Given the description of an element on the screen output the (x, y) to click on. 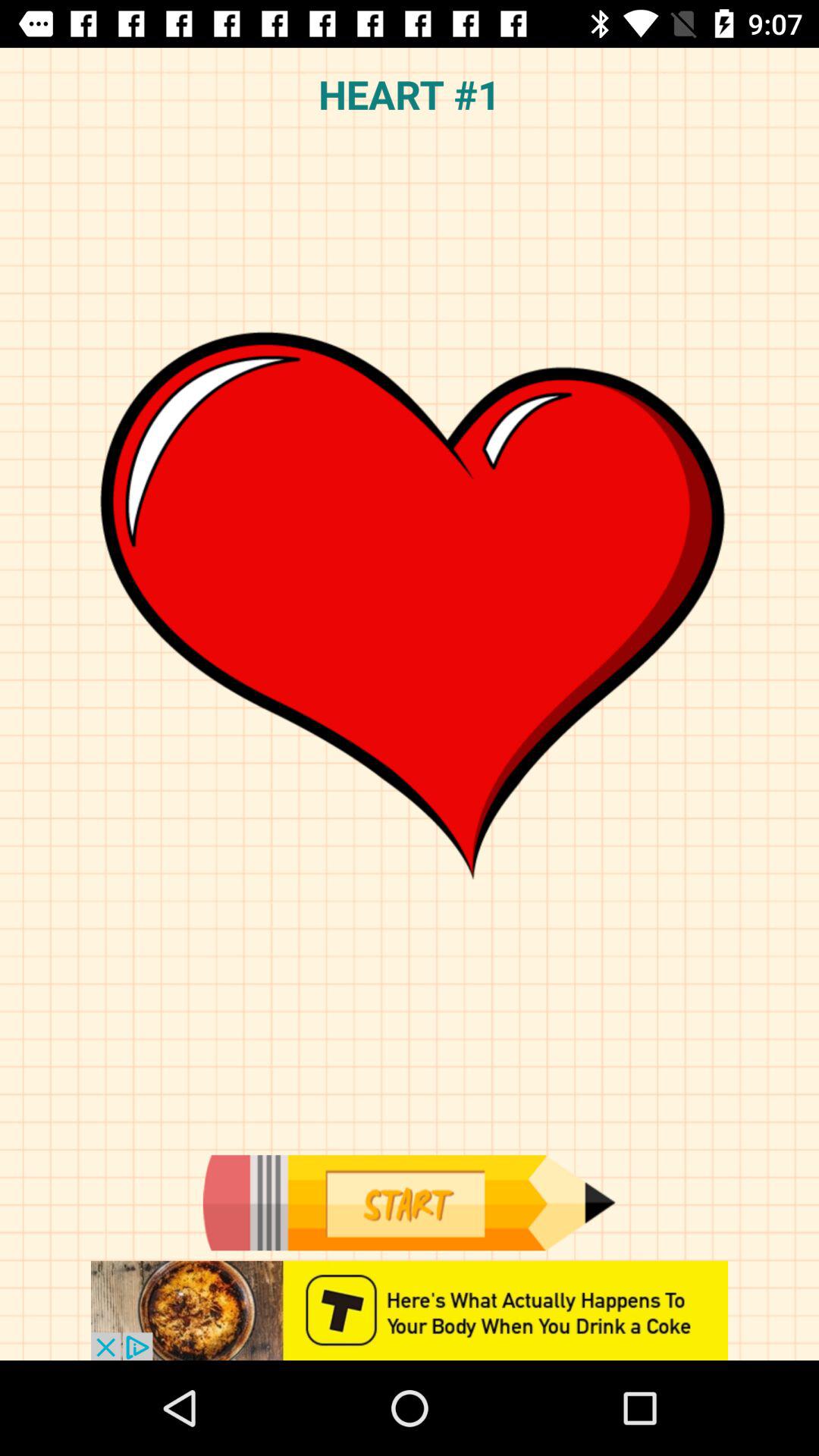
click the start button (409, 1202)
